Given the description of an element on the screen output the (x, y) to click on. 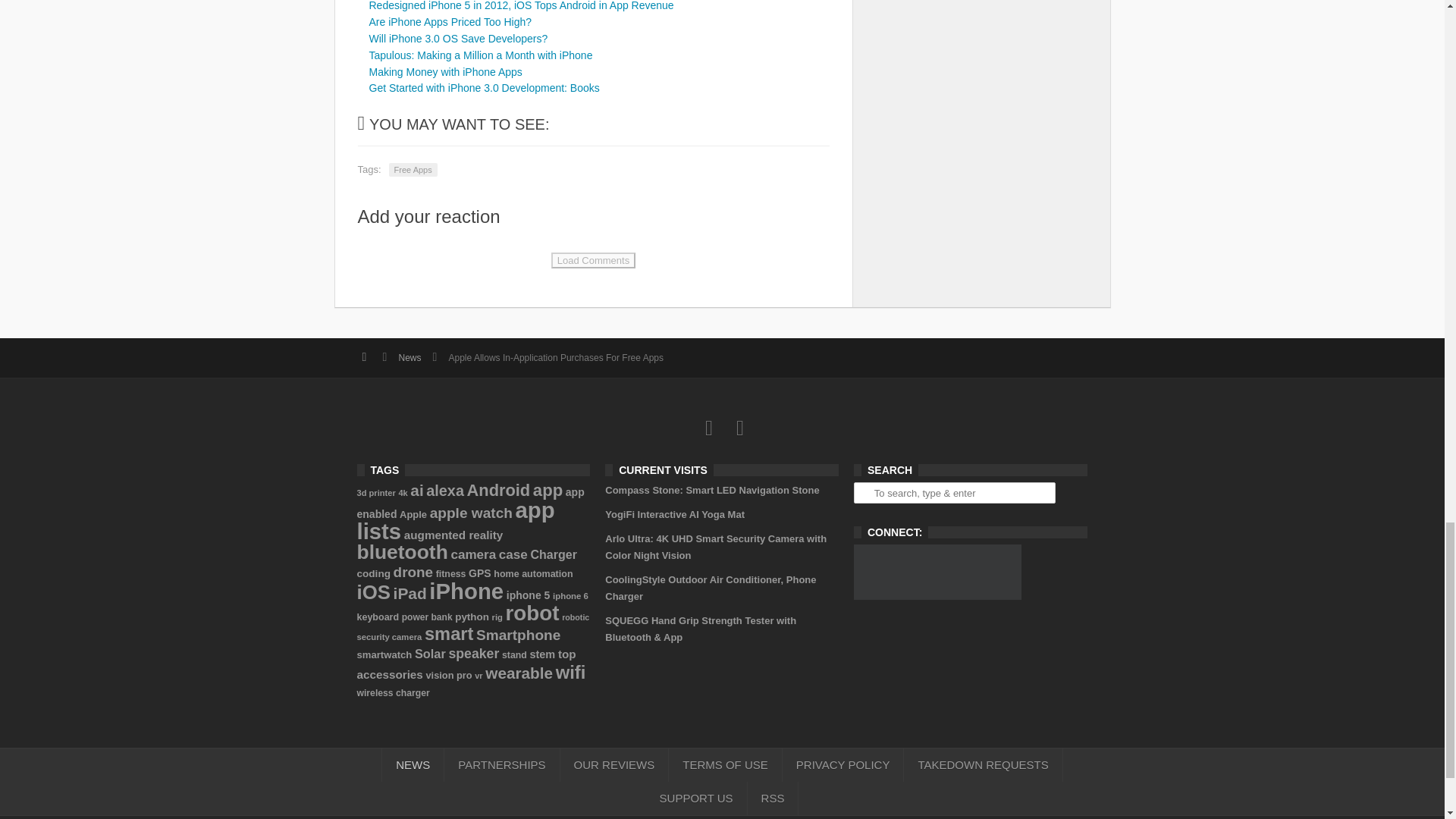
Tapulous: Making a Million a Month with iPhone (480, 55)
Are iPhone Apps Priced Too High? (449, 21)
Will iPhone 3.0 OS Save Developers? (457, 38)
Redesigned iPhone 5 in 2012, iOS Tops Android in App Revenue (520, 5)
